Given the description of an element on the screen output the (x, y) to click on. 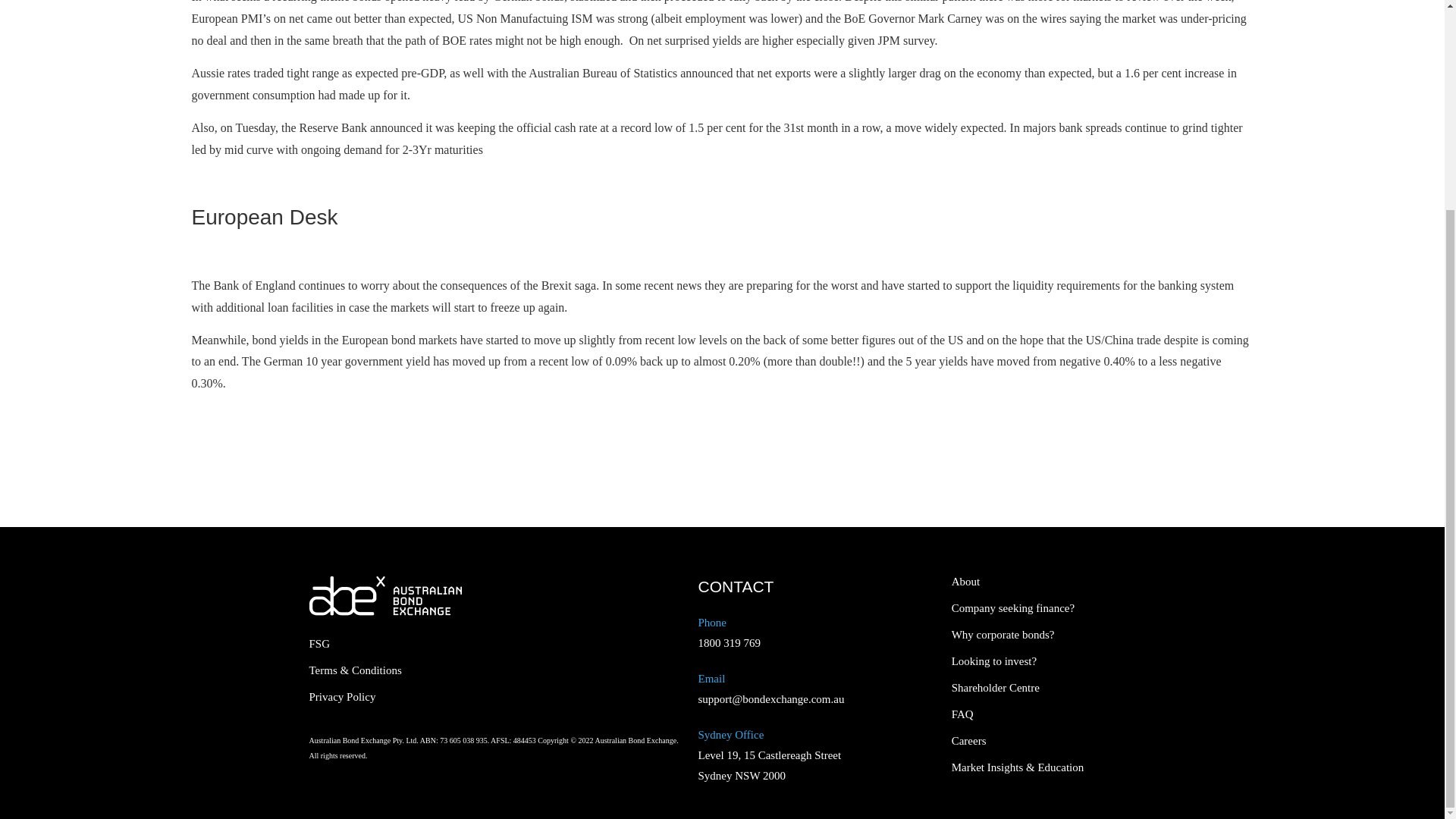
Company seeking finance? (1027, 608)
Shareholder Centre (1027, 687)
FAQ (1027, 714)
Privacy Policy (395, 696)
Why corporate bonds? (1027, 634)
Careers (1027, 740)
About (1027, 582)
FSG (395, 644)
Looking to invest? (1027, 661)
